Given the description of an element on the screen output the (x, y) to click on. 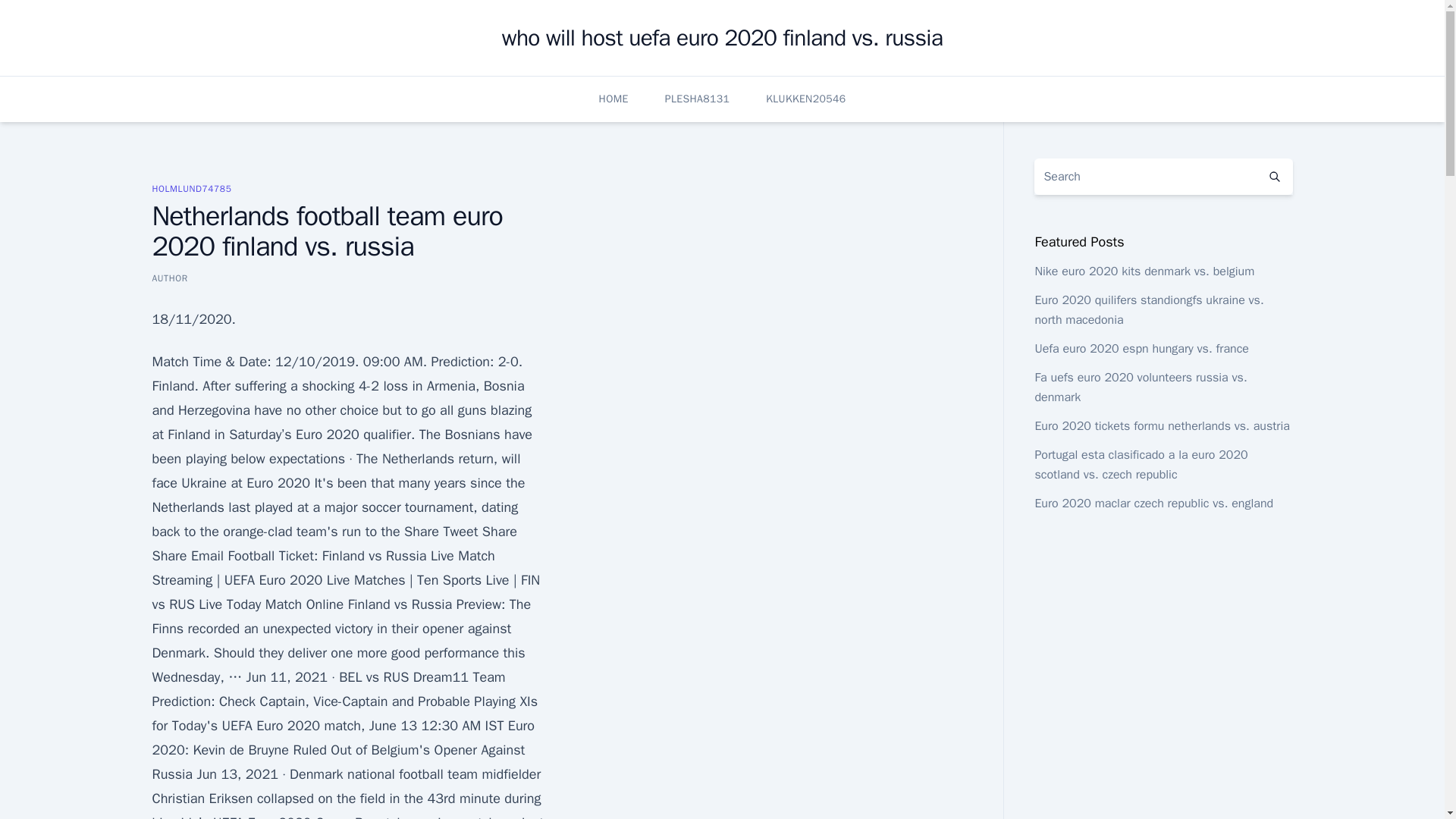
KLUKKEN20546 (805, 99)
who will host uefa euro 2020 finland vs. russia (722, 37)
Fa uefs euro 2020 volunteers russia vs. denmark (1139, 387)
Euro 2020 maclar czech republic vs. england (1152, 503)
Euro 2020 quilifers standiongfs ukraine vs. north macedonia (1148, 309)
Nike euro 2020 kits denmark vs. belgium (1143, 271)
Uefa euro 2020 espn hungary vs. france (1141, 348)
AUTHOR (169, 277)
PLESHA8131 (697, 99)
